Given the description of an element on the screen output the (x, y) to click on. 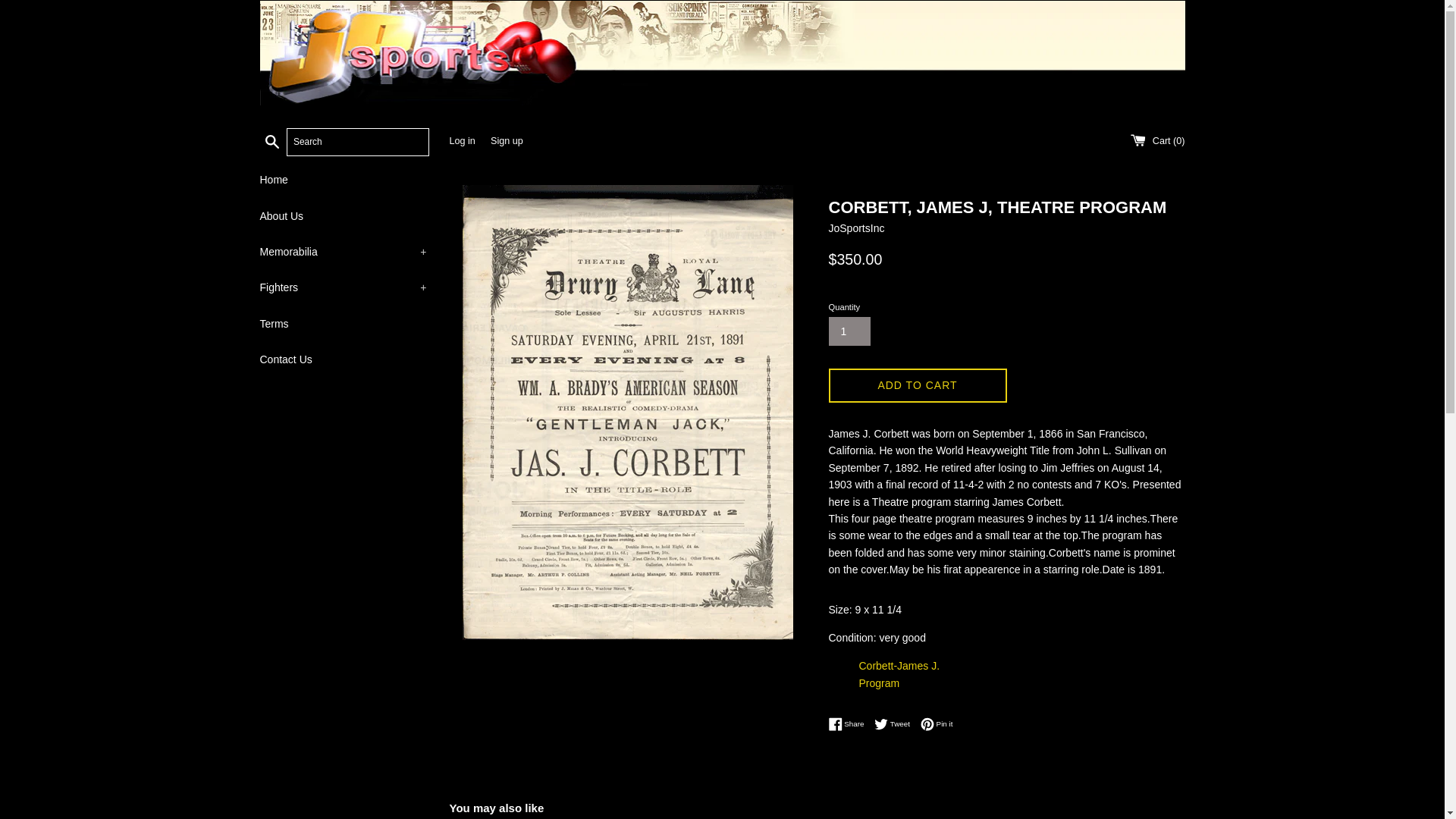
About Us (342, 216)
Sign up (506, 140)
Share on Facebook (849, 724)
Home (342, 179)
Pin on Pinterest (936, 724)
1 (848, 330)
Log in (461, 140)
Search (271, 140)
Tweet on Twitter (896, 724)
